Given the description of an element on the screen output the (x, y) to click on. 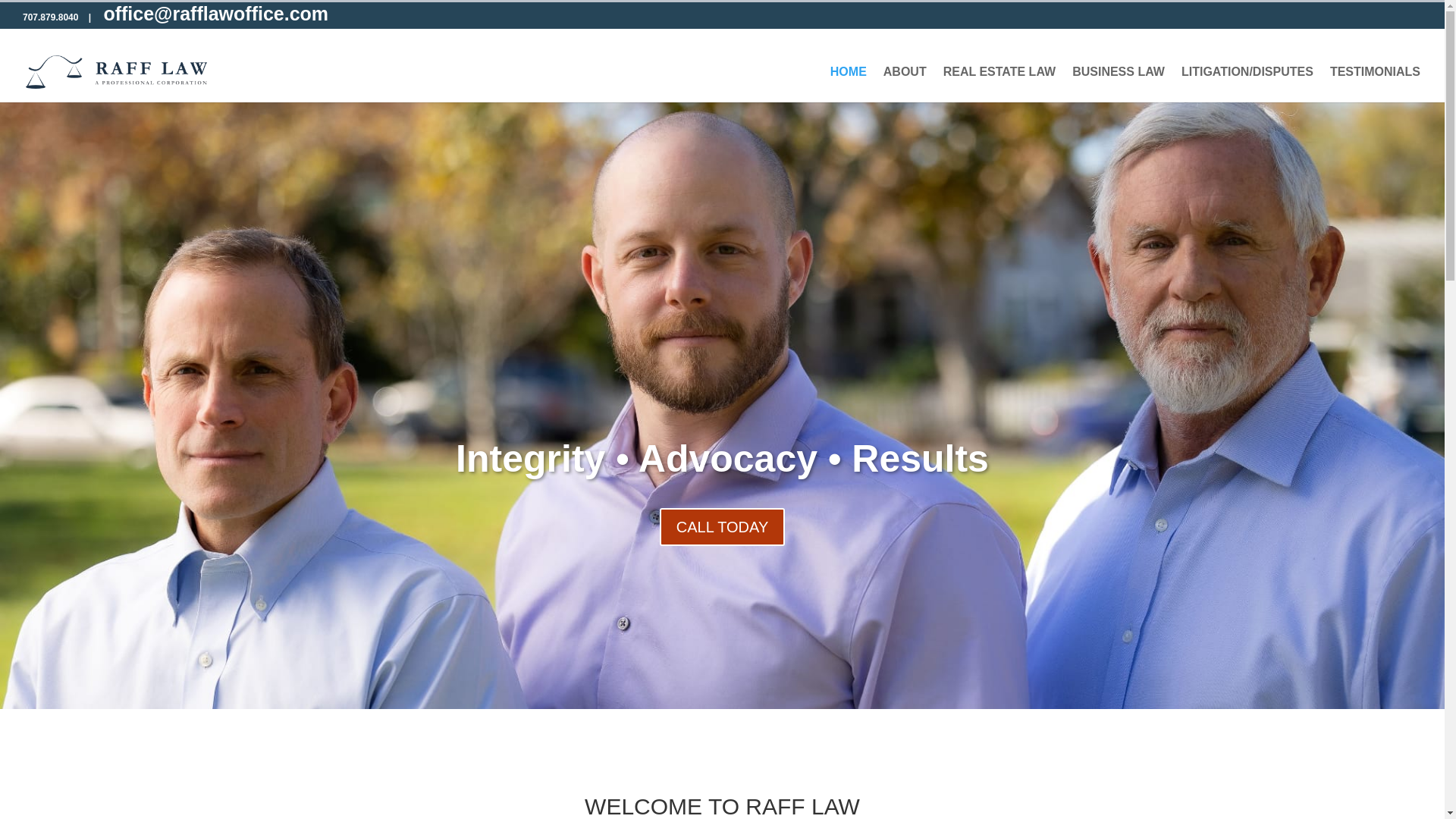
BUSINESS LAW (1117, 84)
REAL ESTATE LAW (999, 84)
ABOUT (904, 84)
CALL TODAY (722, 526)
HOME (847, 84)
TESTIMONIALS (1375, 84)
